Given the description of an element on the screen output the (x, y) to click on. 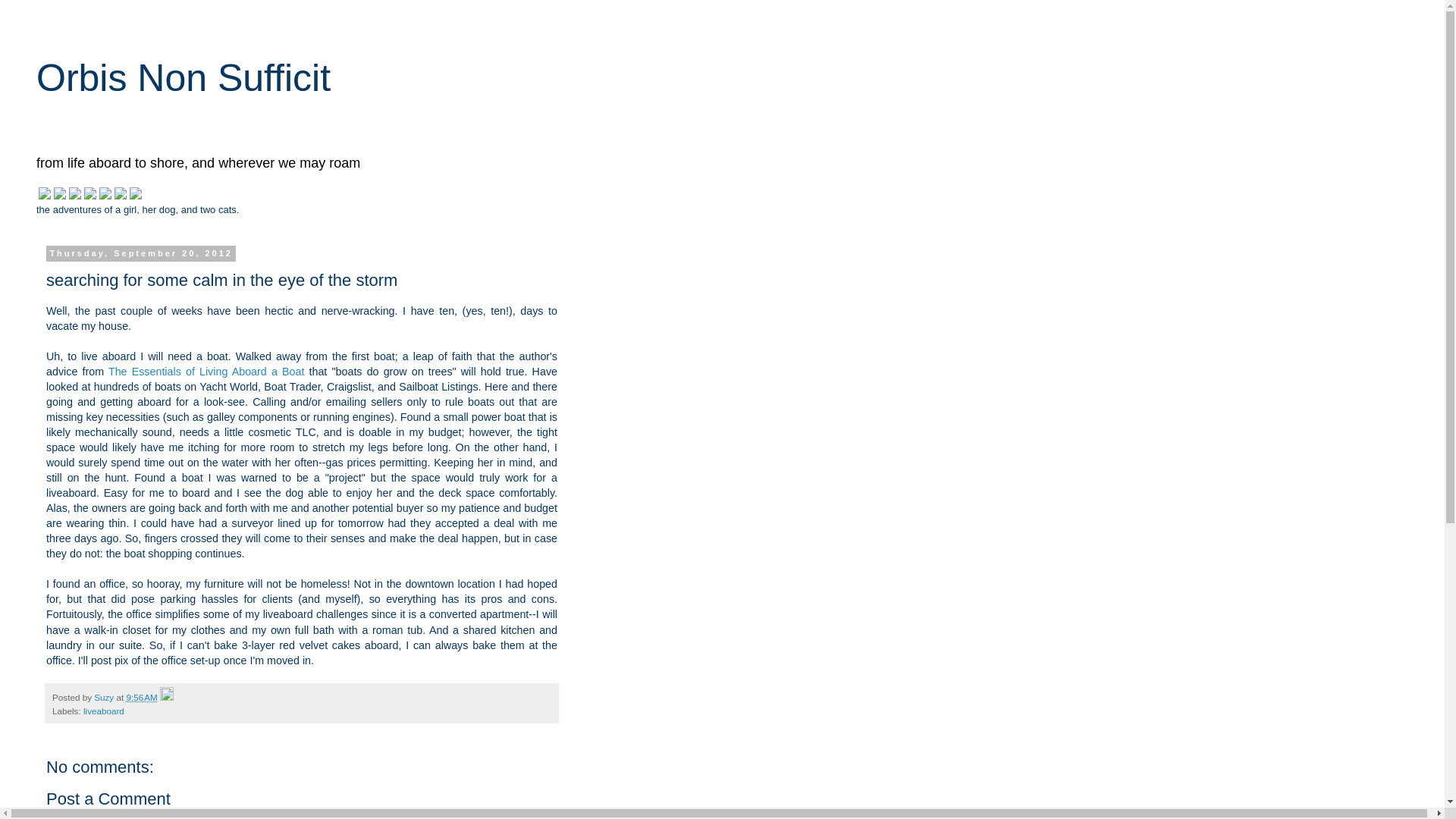
Edit Post (166, 696)
The Essentials of Living Aboard a Boat (205, 371)
permanent link (141, 696)
author profile (105, 696)
liveaboard (102, 710)
Suzy (105, 696)
Orbis Non Sufficit (183, 77)
